Given the description of an element on the screen output the (x, y) to click on. 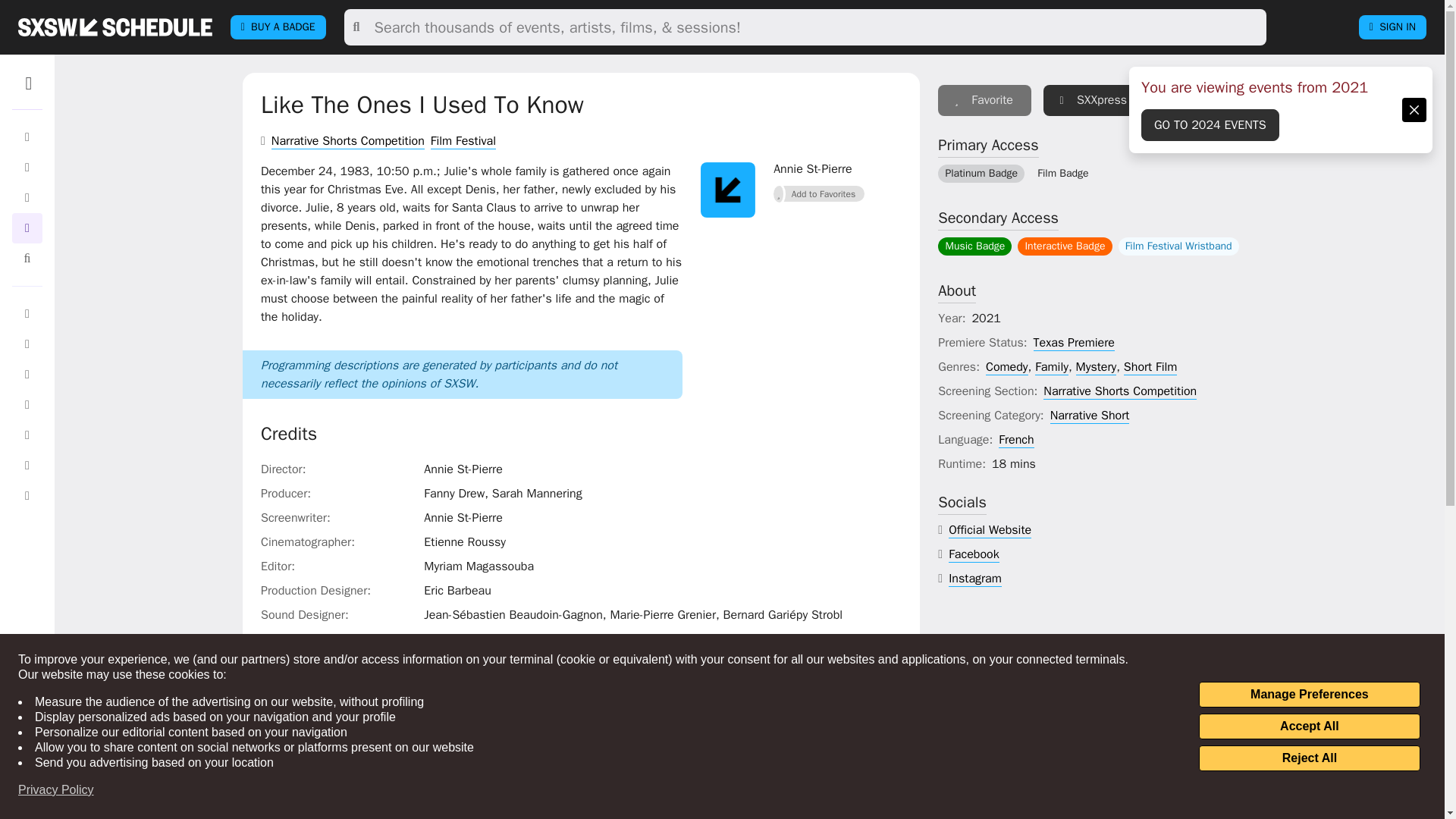
Manage Preferences (1309, 694)
instagram (975, 578)
facebook (973, 554)
Narrative Shorts Competition (347, 141)
website (989, 530)
Accept All (1309, 726)
sxsw SCHEDULE (114, 27)
Reject All (1309, 758)
GO TO 2024 EVENTS (1210, 124)
BUY A BADGE (278, 27)
